Given the description of an element on the screen output the (x, y) to click on. 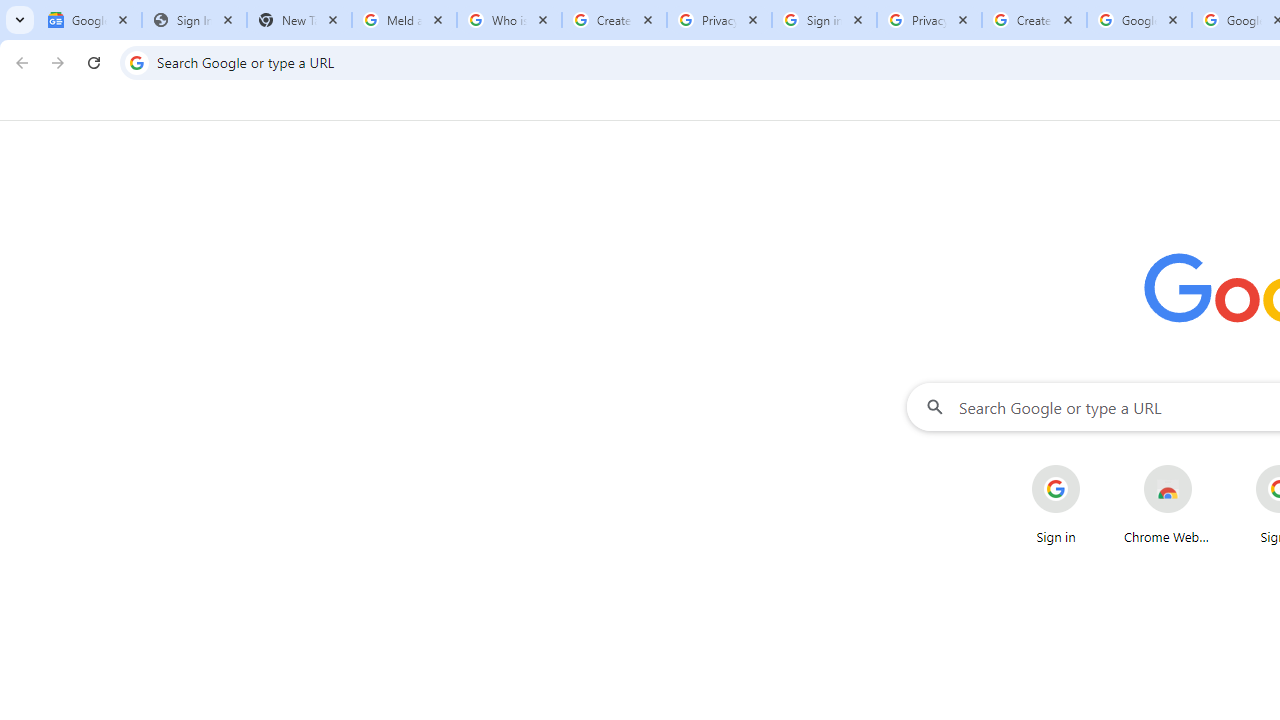
New Tab (299, 20)
